Given the description of an element on the screen output the (x, y) to click on. 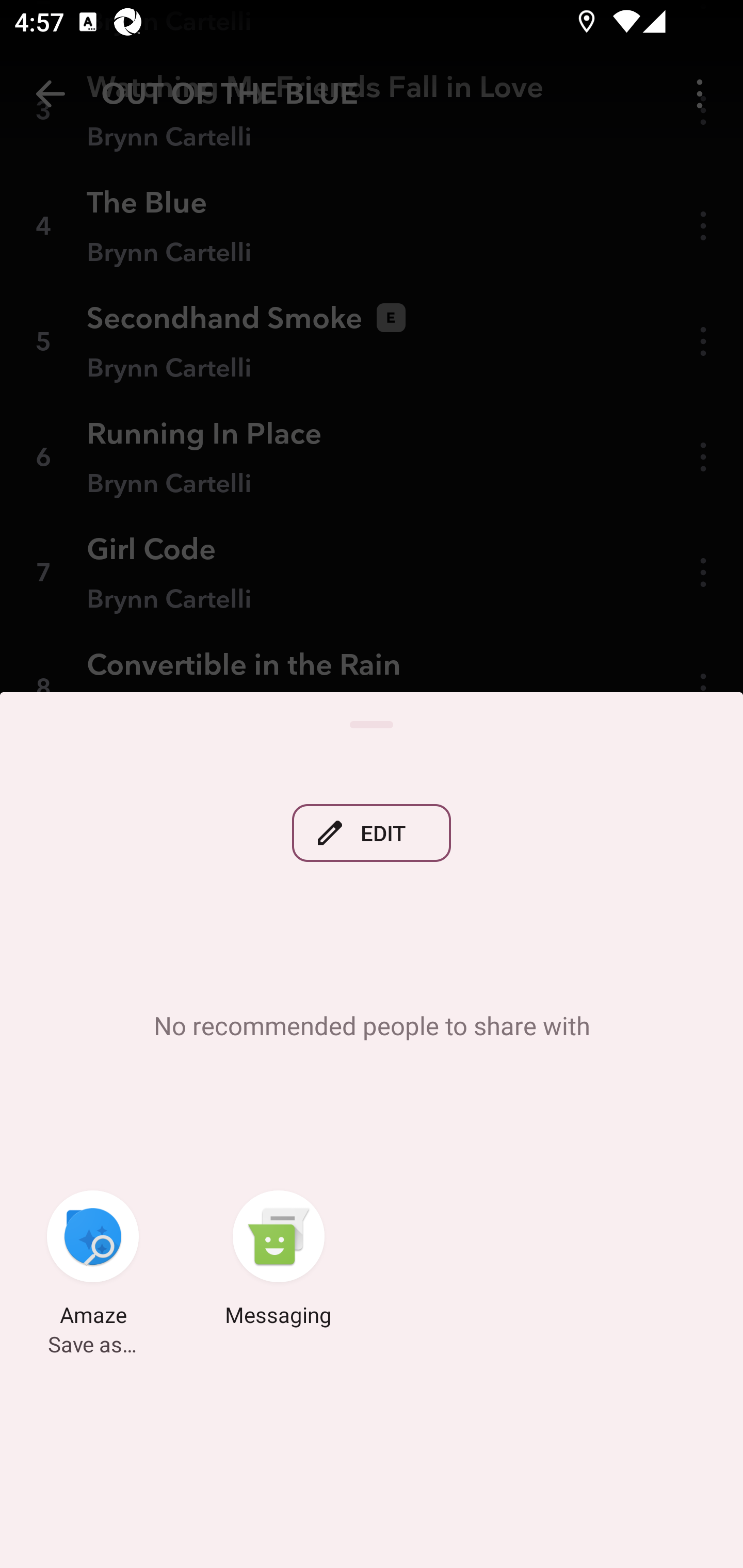
EDIT (371, 833)
Amaze Save as… (92, 1261)
Messaging (278, 1261)
